Given the description of an element on the screen output the (x, y) to click on. 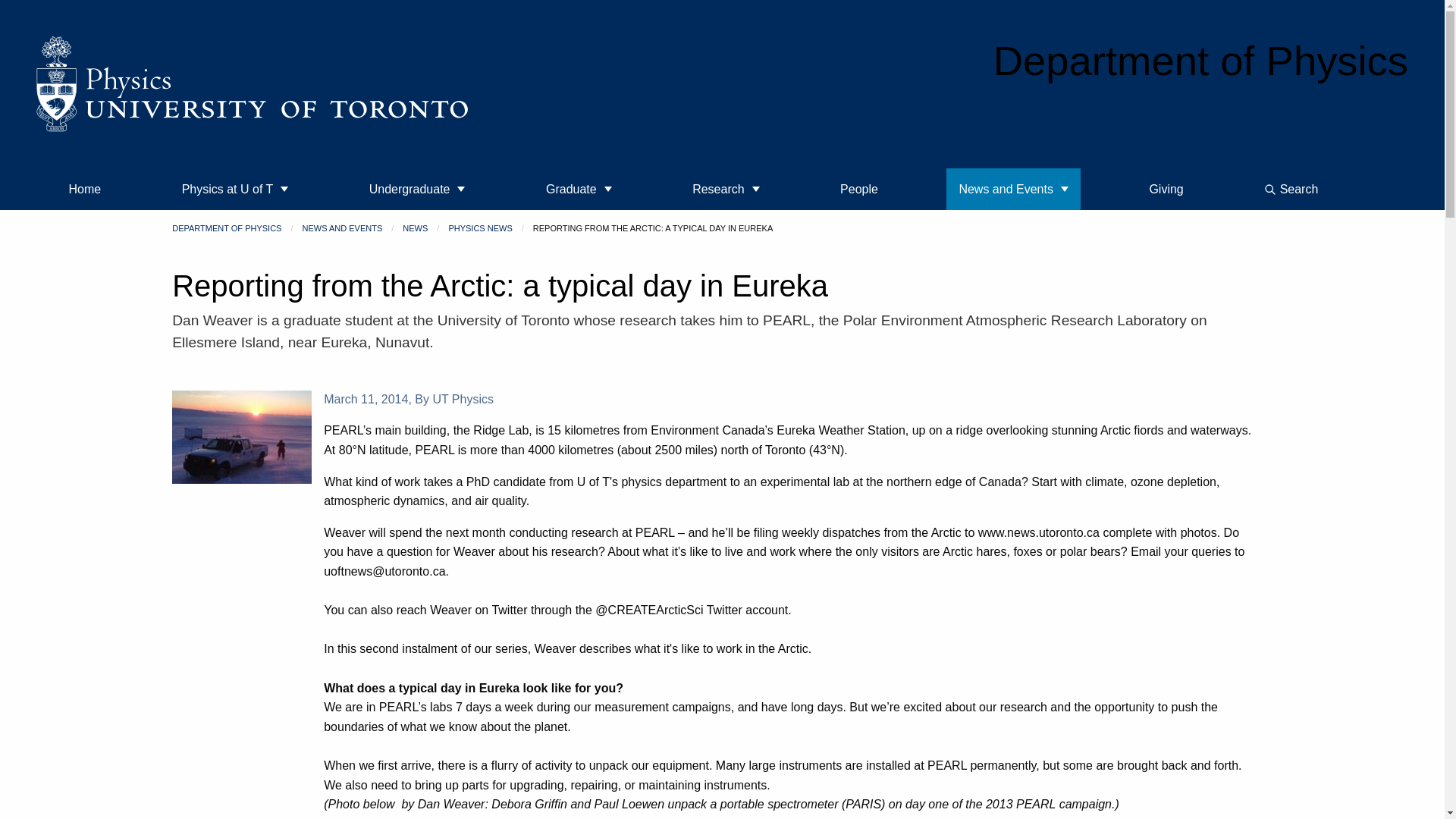
Graduate (579, 188)
Home (84, 188)
Undergraduate (416, 188)
Physics at U of T (235, 188)
